Given the description of an element on the screen output the (x, y) to click on. 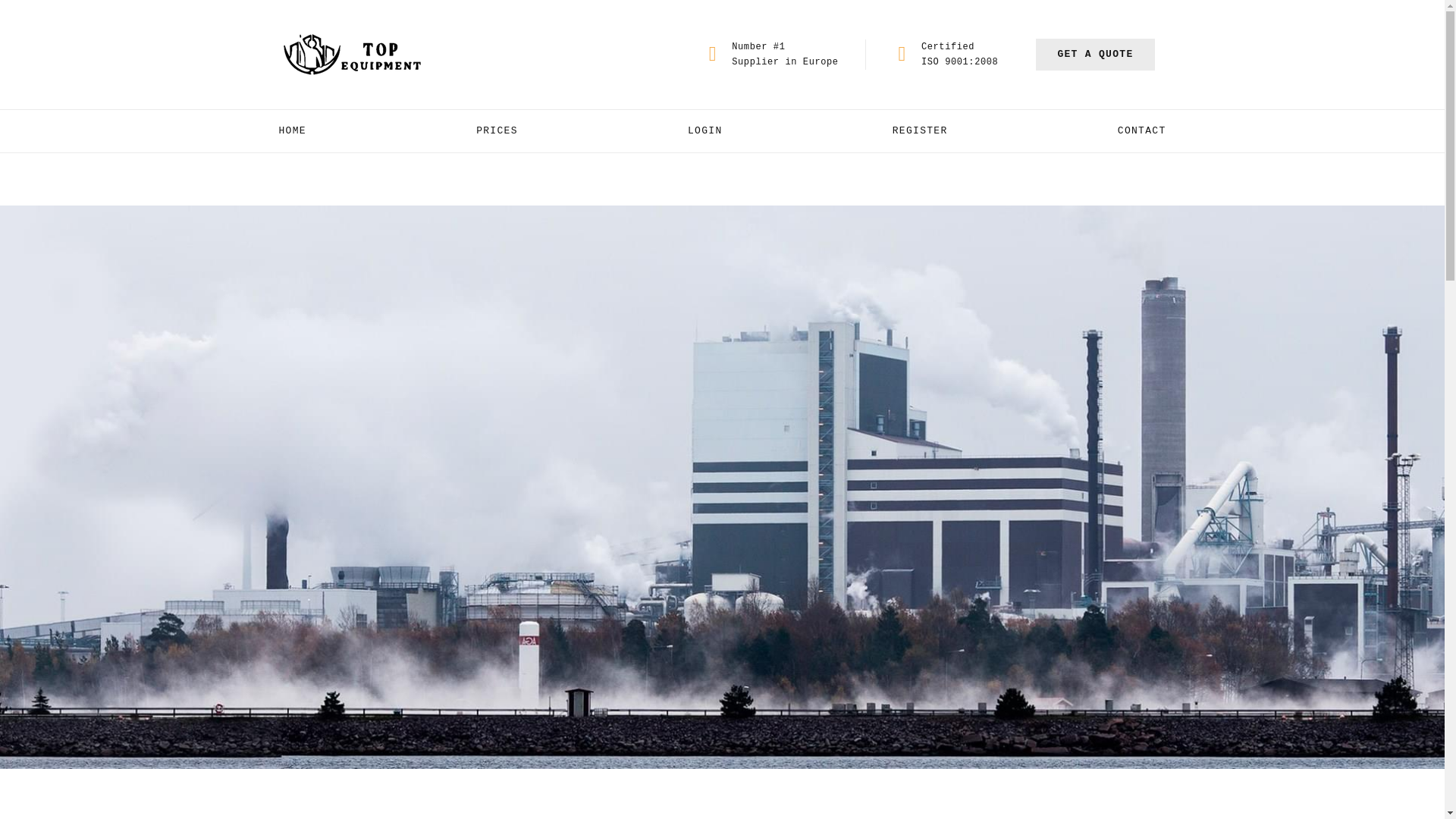
PRICES (497, 130)
GET A QUOTE (1094, 54)
LOGIN (704, 130)
CONTACT (1142, 130)
REGISTER (919, 130)
HOME (292, 130)
